Given the description of an element on the screen output the (x, y) to click on. 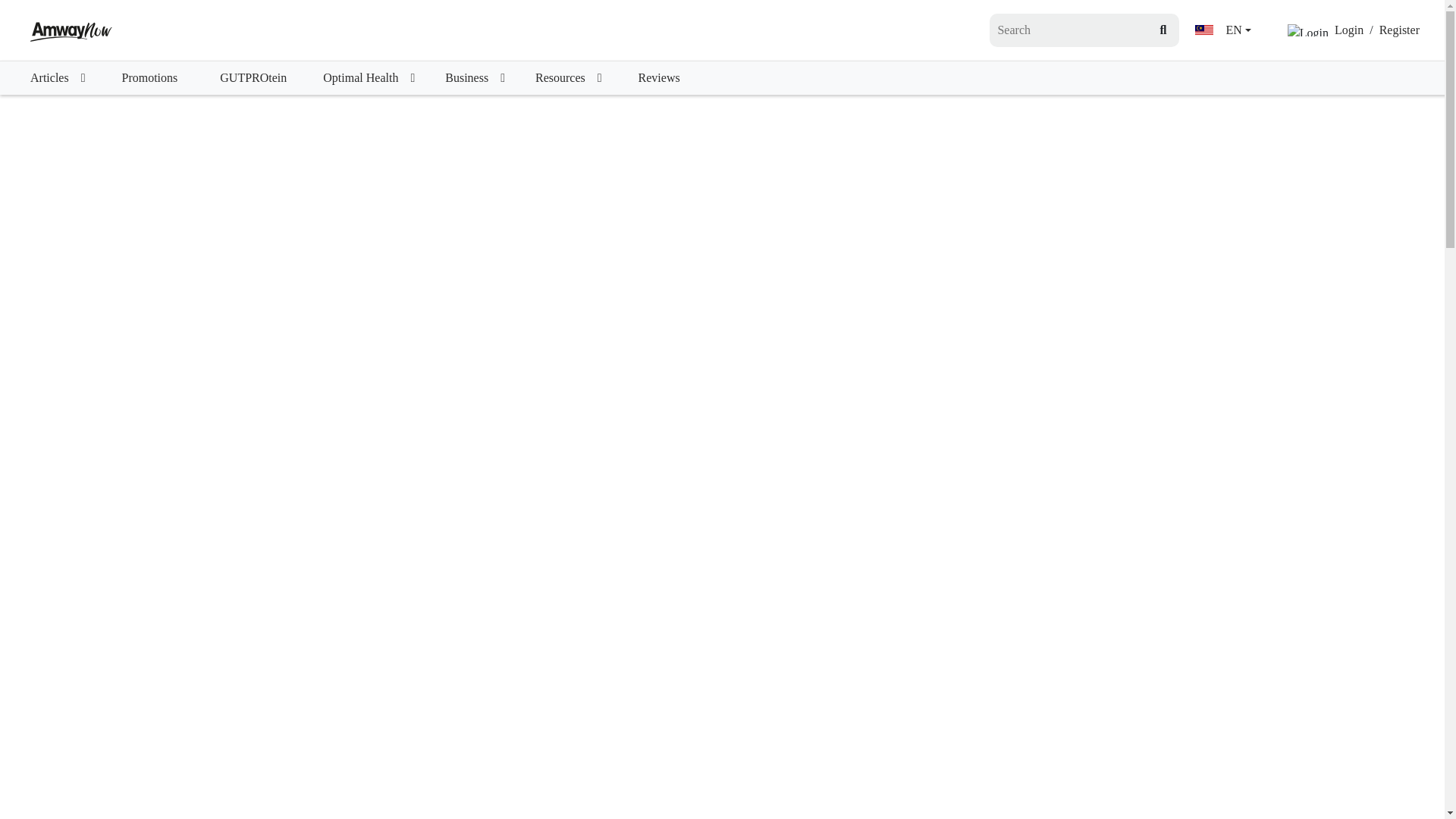
Login (1348, 30)
Promotions (149, 78)
GUTPROtein (253, 78)
Articles (57, 78)
Optimal Health (368, 78)
Register (1399, 30)
EN (1222, 30)
